Given the description of an element on the screen output the (x, y) to click on. 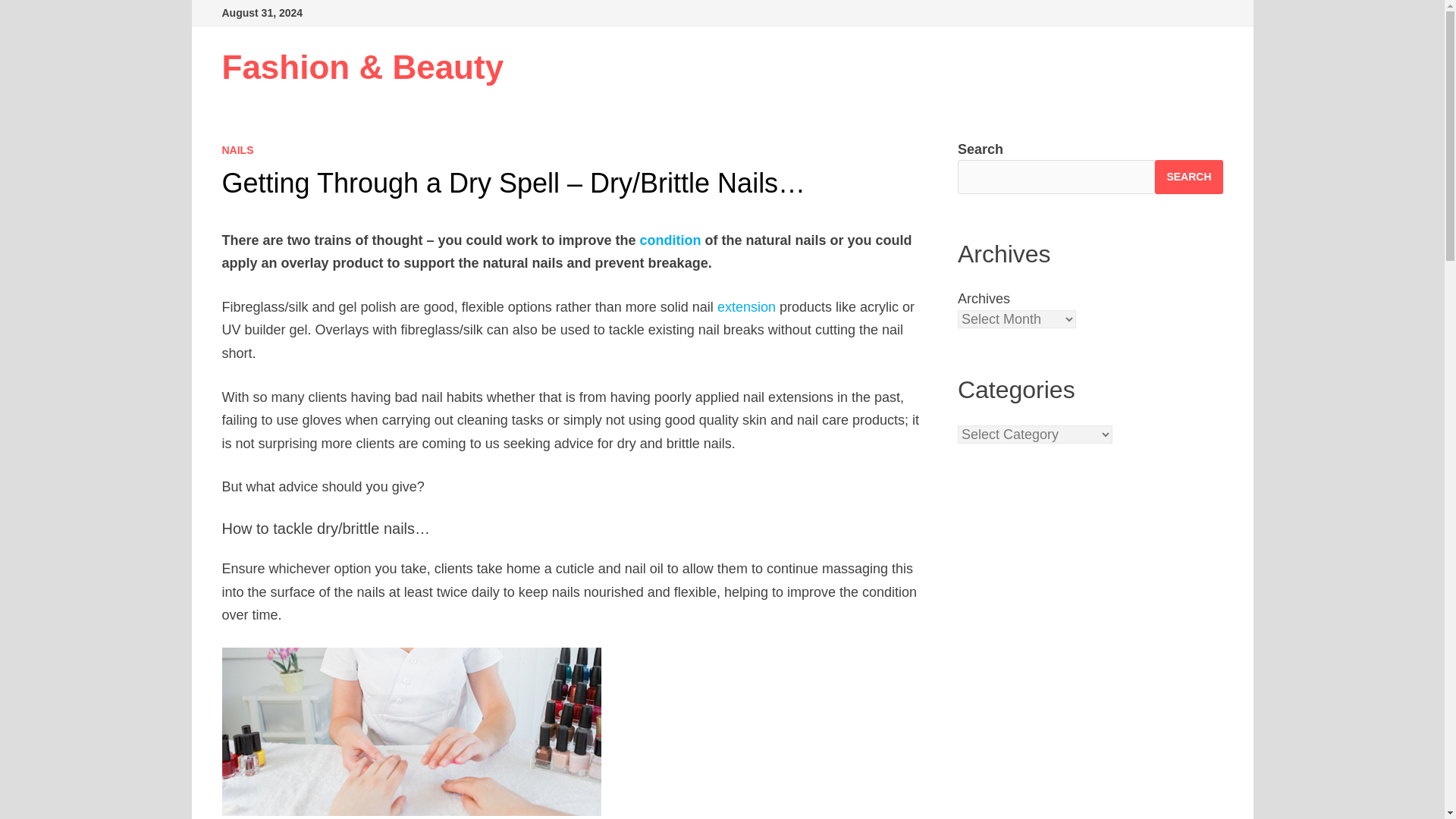
condition (670, 240)
extension (746, 306)
NAILS (237, 150)
SEARCH (1188, 176)
